Given the description of an element on the screen output the (x, y) to click on. 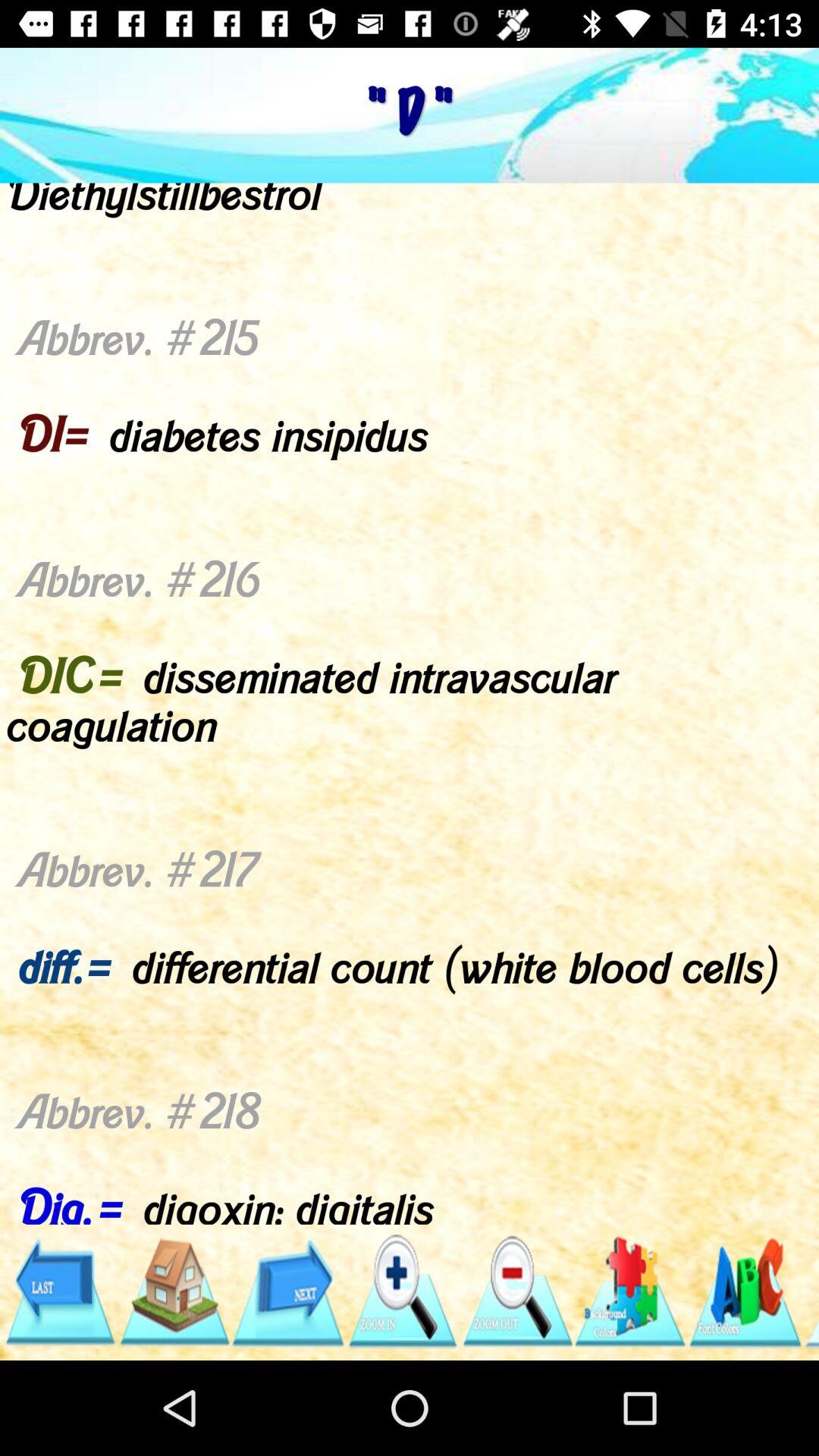
home (173, 1291)
